Given the description of an element on the screen output the (x, y) to click on. 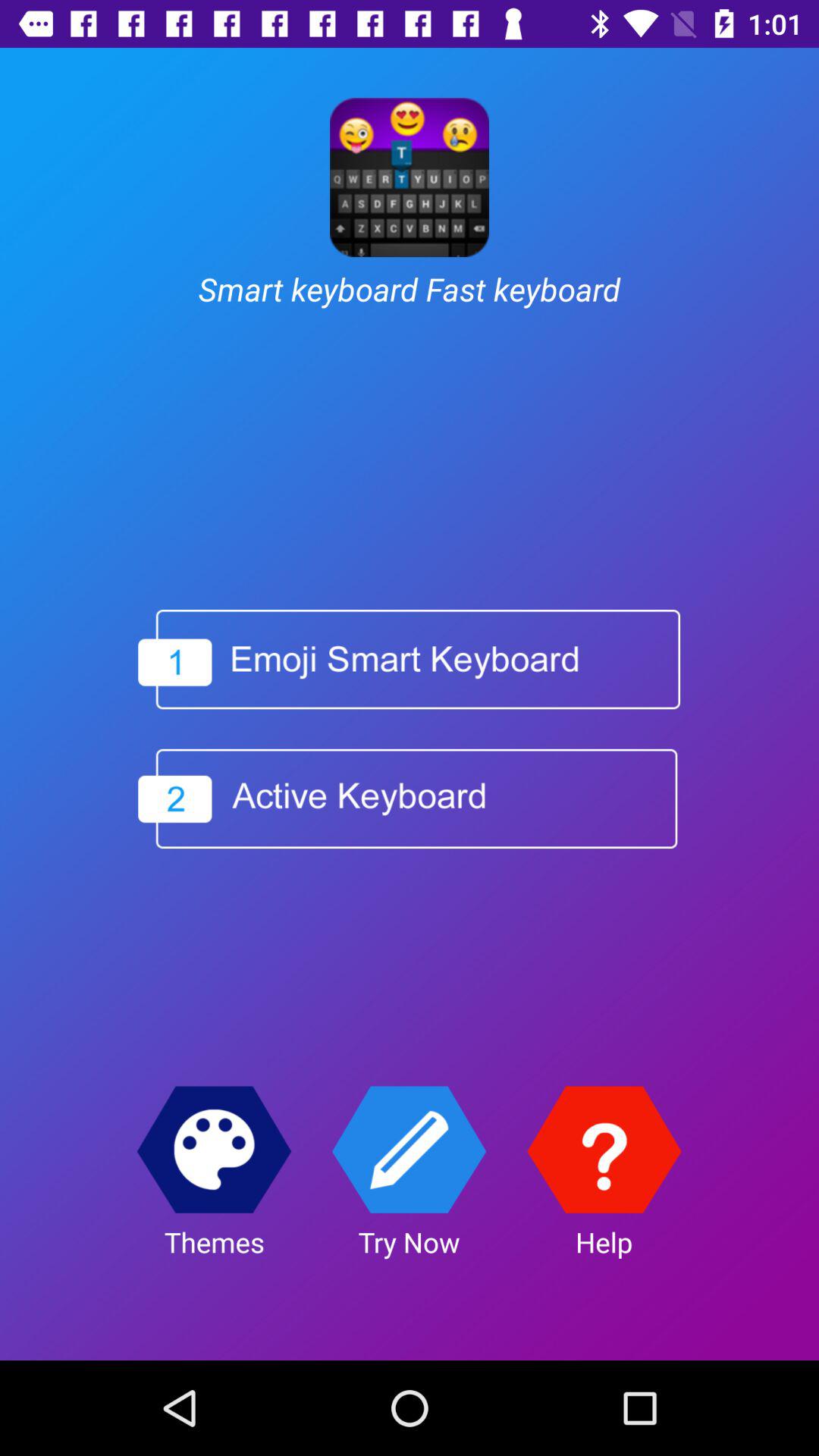
themes (214, 1149)
